Given the description of an element on the screen output the (x, y) to click on. 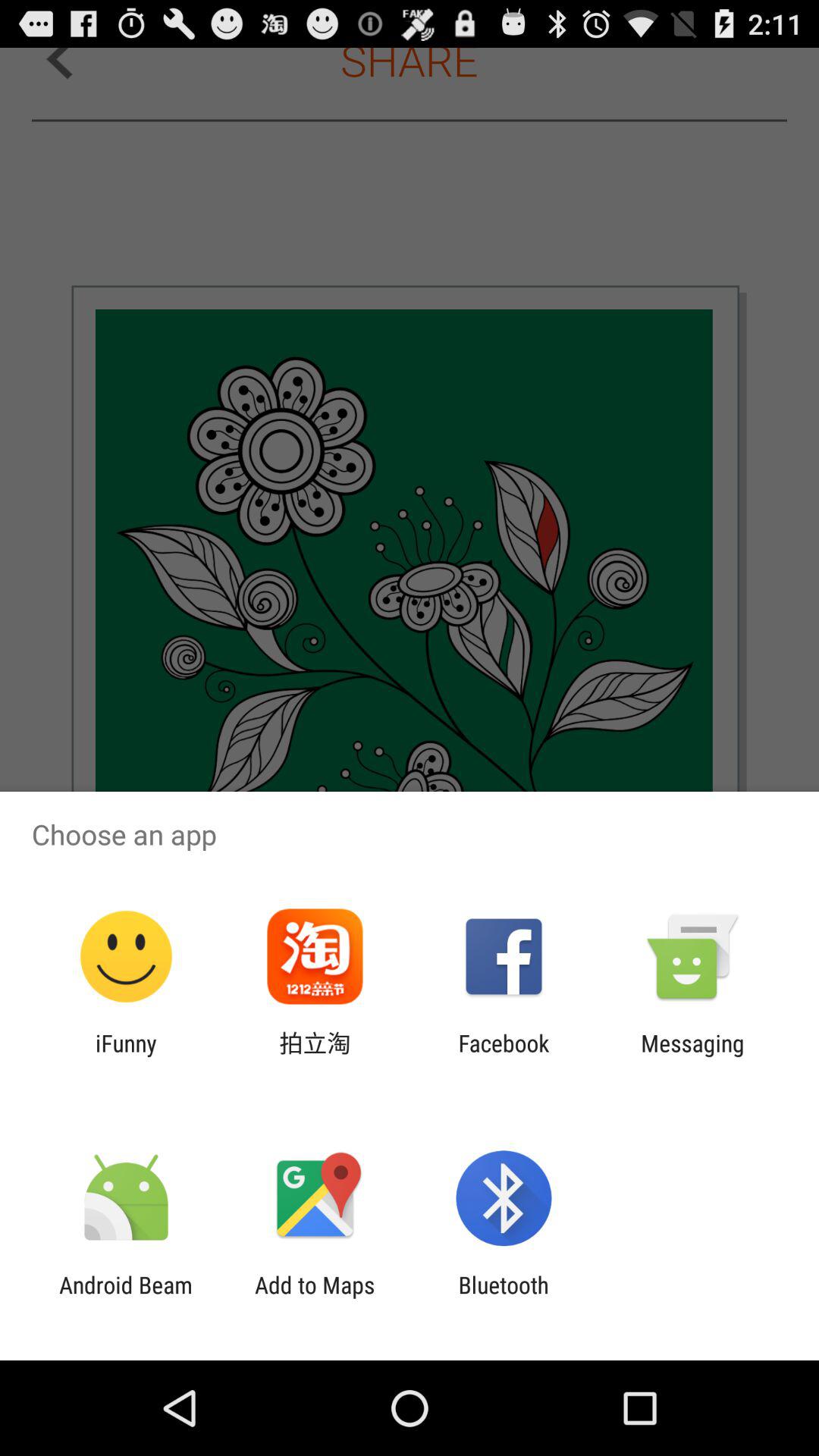
select item to the right of the ifunny item (314, 1056)
